Given the description of an element on the screen output the (x, y) to click on. 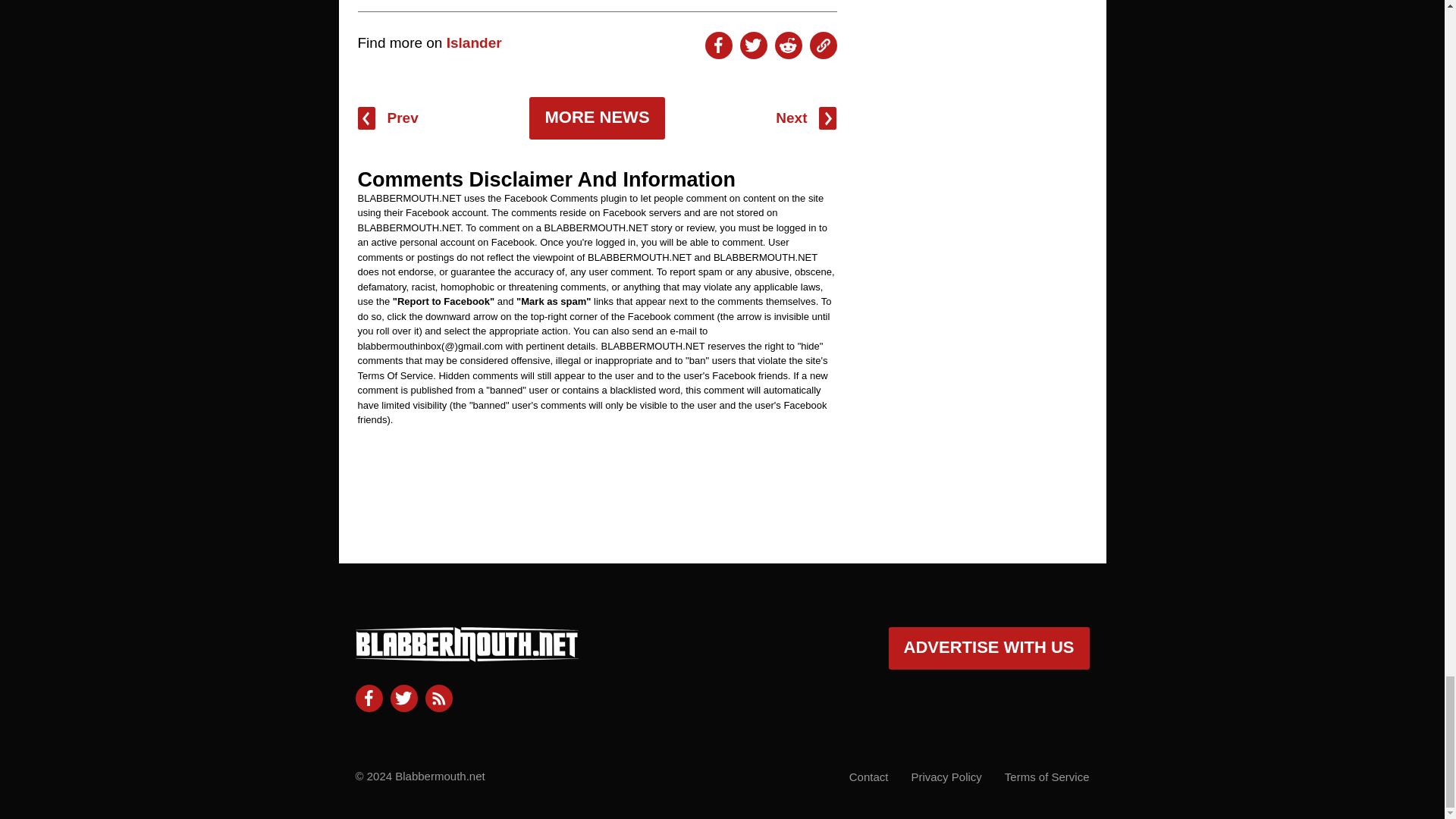
Islander (474, 42)
Share On Reddit (788, 44)
blabbermouth (466, 655)
Next (805, 118)
MORE NEWS (596, 118)
Copy To Clipboard (823, 44)
Share On Twitter (753, 44)
Share On Facebook (718, 44)
Prev (388, 118)
